Given the description of an element on the screen output the (x, y) to click on. 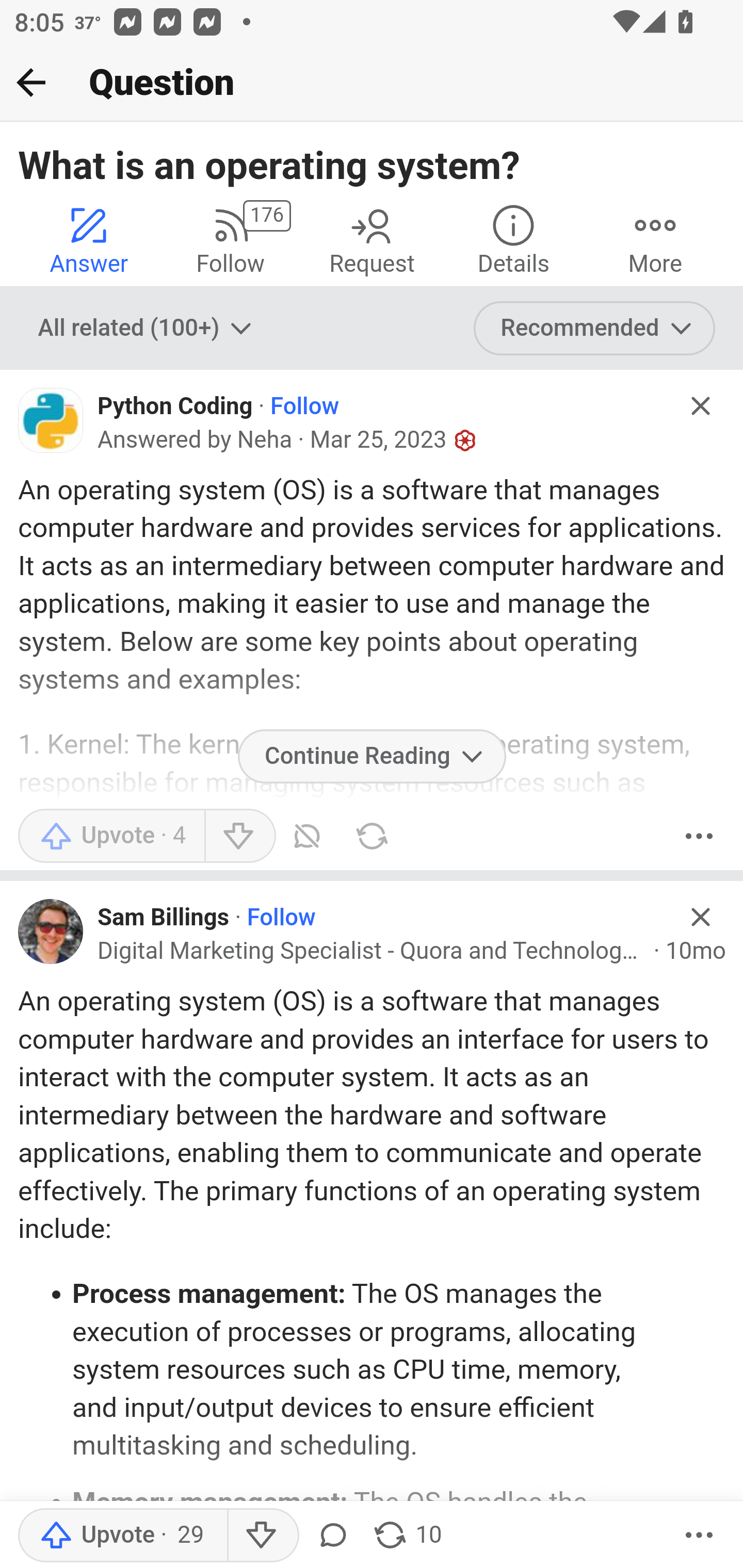
Back Question (371, 82)
Back (30, 82)
Answer (88, 239)
176 Follow (230, 239)
Request (371, 239)
Details (513, 239)
More (655, 239)
All related (100+) (146, 327)
Recommended (594, 327)
Hide (700, 405)
Icon for Python Coding (50, 420)
Python Coding (174, 406)
Follow (304, 406)
Continue Reading (371, 755)
Upvote Downvote (147, 835)
Comment (310, 835)
Share (372, 835)
More (699, 835)
Hide (700, 916)
Profile photo for Sam Billings (50, 931)
Sam Billings (164, 918)
Follow (280, 918)
10mo 10 mo (695, 951)
Upvote (122, 1535)
Downvote (262, 1535)
Comment (332, 1535)
10 shares (407, 1535)
More (699, 1535)
